Given the description of an element on the screen output the (x, y) to click on. 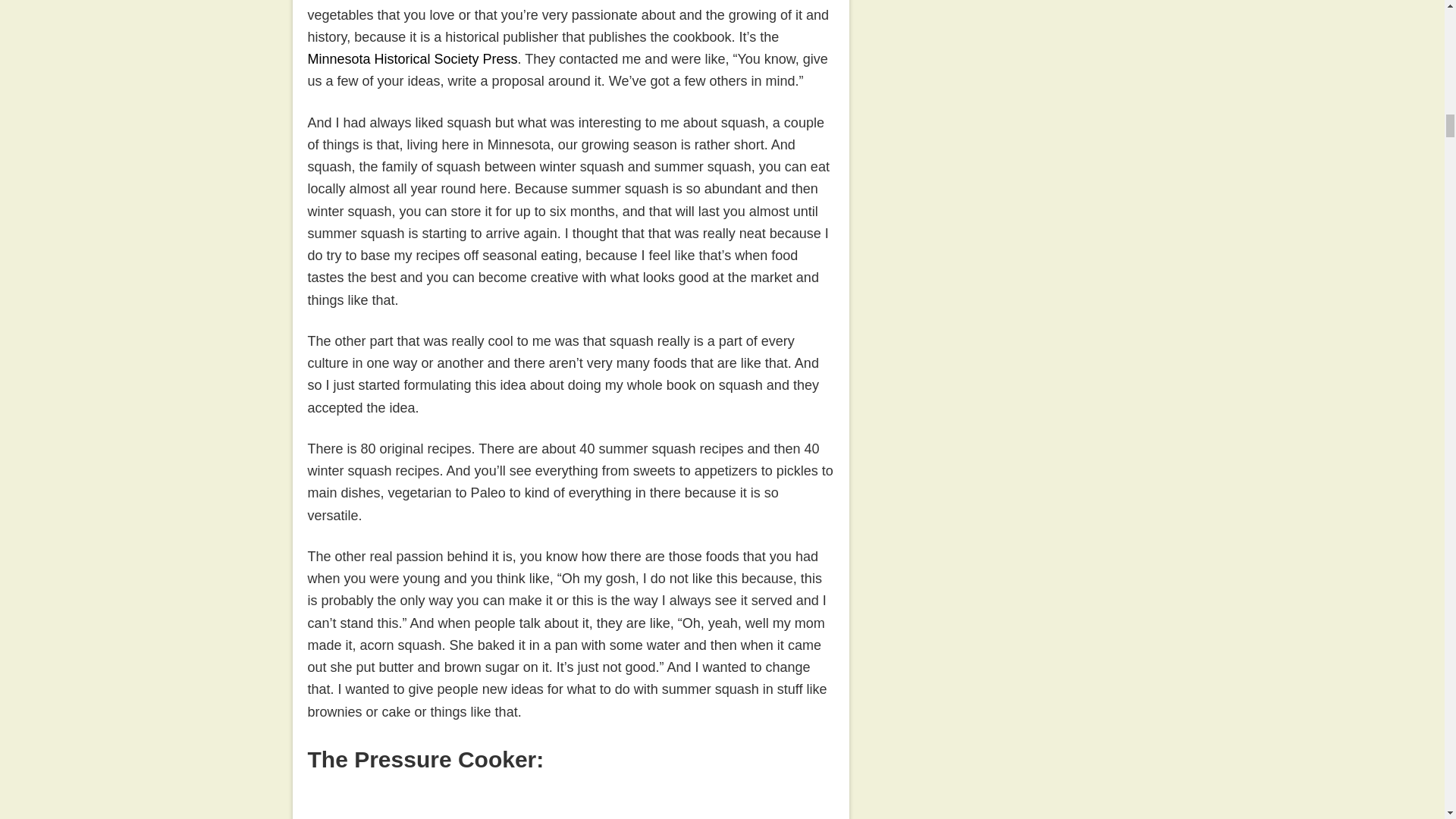
Minnesota Historical Society Press (412, 58)
